Given the description of an element on the screen output the (x, y) to click on. 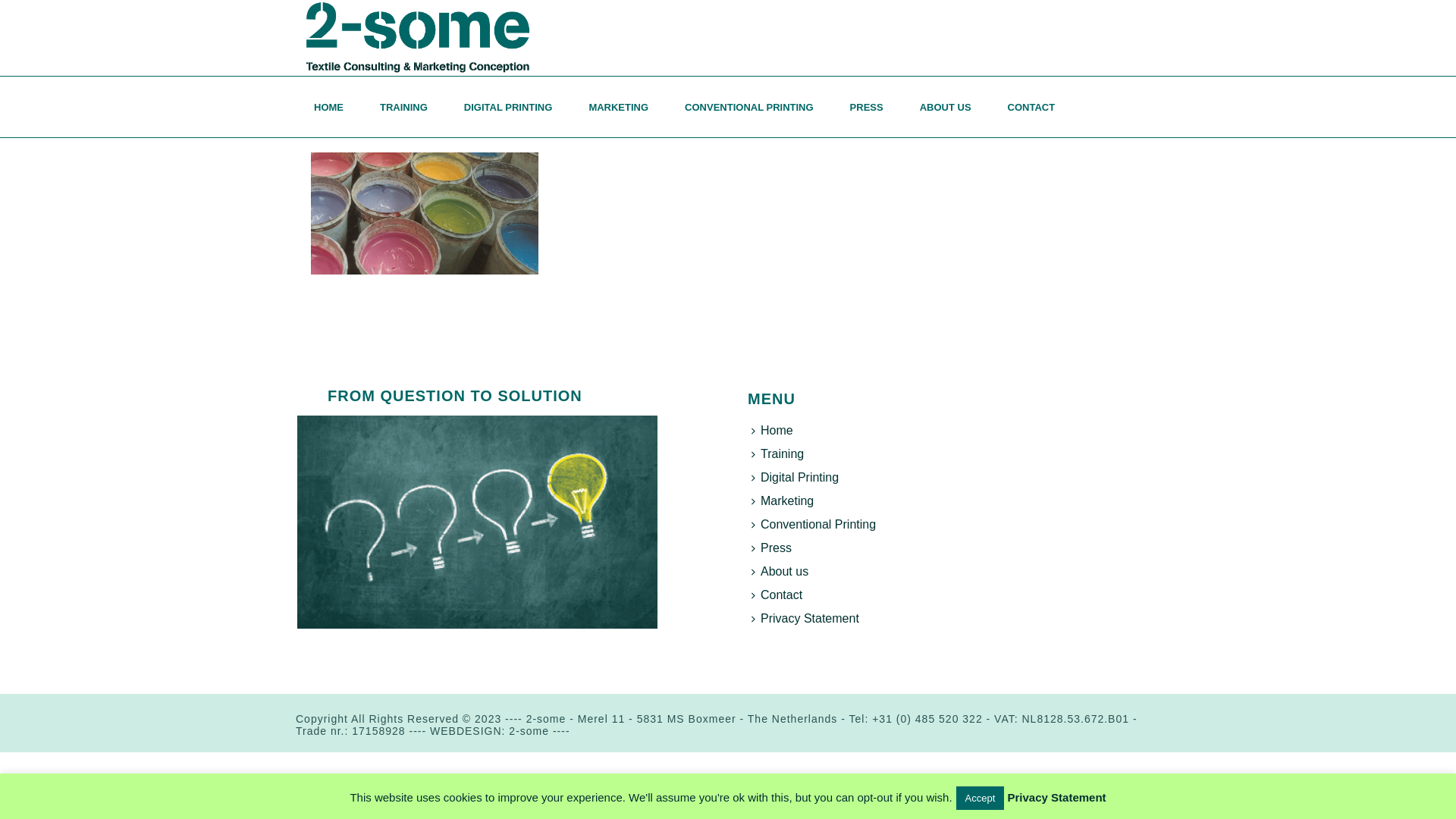
HOME Element type: text (328, 107)
Press Element type: text (775, 547)
All about printing textiles Element type: hover (417, 37)
Marketing Element type: text (786, 500)
About us Element type: text (783, 571)
MARKETING Element type: text (618, 107)
ABOUT US Element type: text (945, 107)
TRAINING Element type: text (403, 107)
Conventional Printing Element type: text (817, 524)
Privacy Statement Element type: text (1056, 796)
DIGITAL PRINTING Element type: text (508, 107)
PRESS Element type: text (866, 107)
Home Element type: text (775, 430)
Contact Element type: text (780, 594)
Digital Printing Element type: text (798, 477)
Privacy Statement Element type: text (808, 618)
CONVENTIONAL PRINTING Element type: text (749, 107)
Accept Element type: text (980, 797)
Training Element type: text (781, 453)
CONTACT Element type: text (1031, 107)
